Given the description of an element on the screen output the (x, y) to click on. 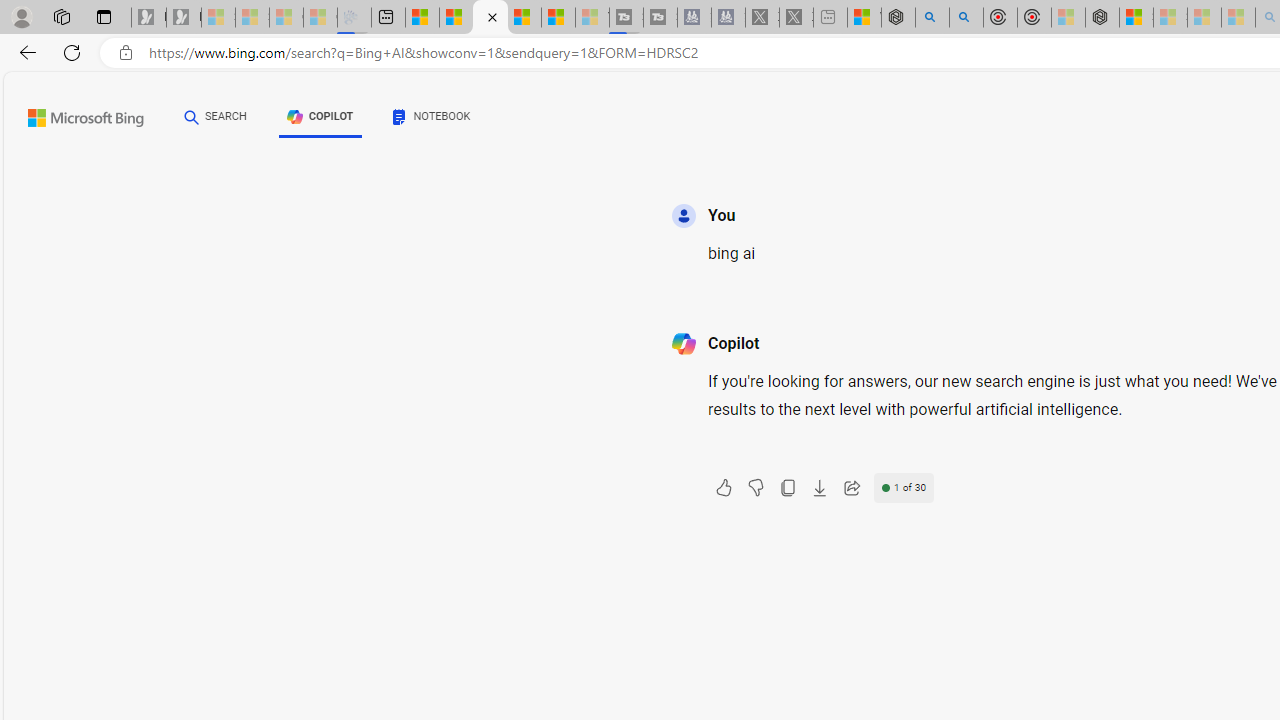
Workspaces (61, 16)
COPILOT (319, 116)
COPILOT (319, 120)
NOTEBOOK (431, 116)
Share (851, 487)
Back (24, 52)
poe - Search (932, 17)
Like (723, 487)
Skip to content (64, 111)
Chat (191, 116)
Personal Profile (21, 16)
Streaming Coverage | T3 - Sleeping (626, 17)
Wildlife - MSN (863, 17)
Tab actions menu (104, 16)
